Given the description of an element on the screen output the (x, y) to click on. 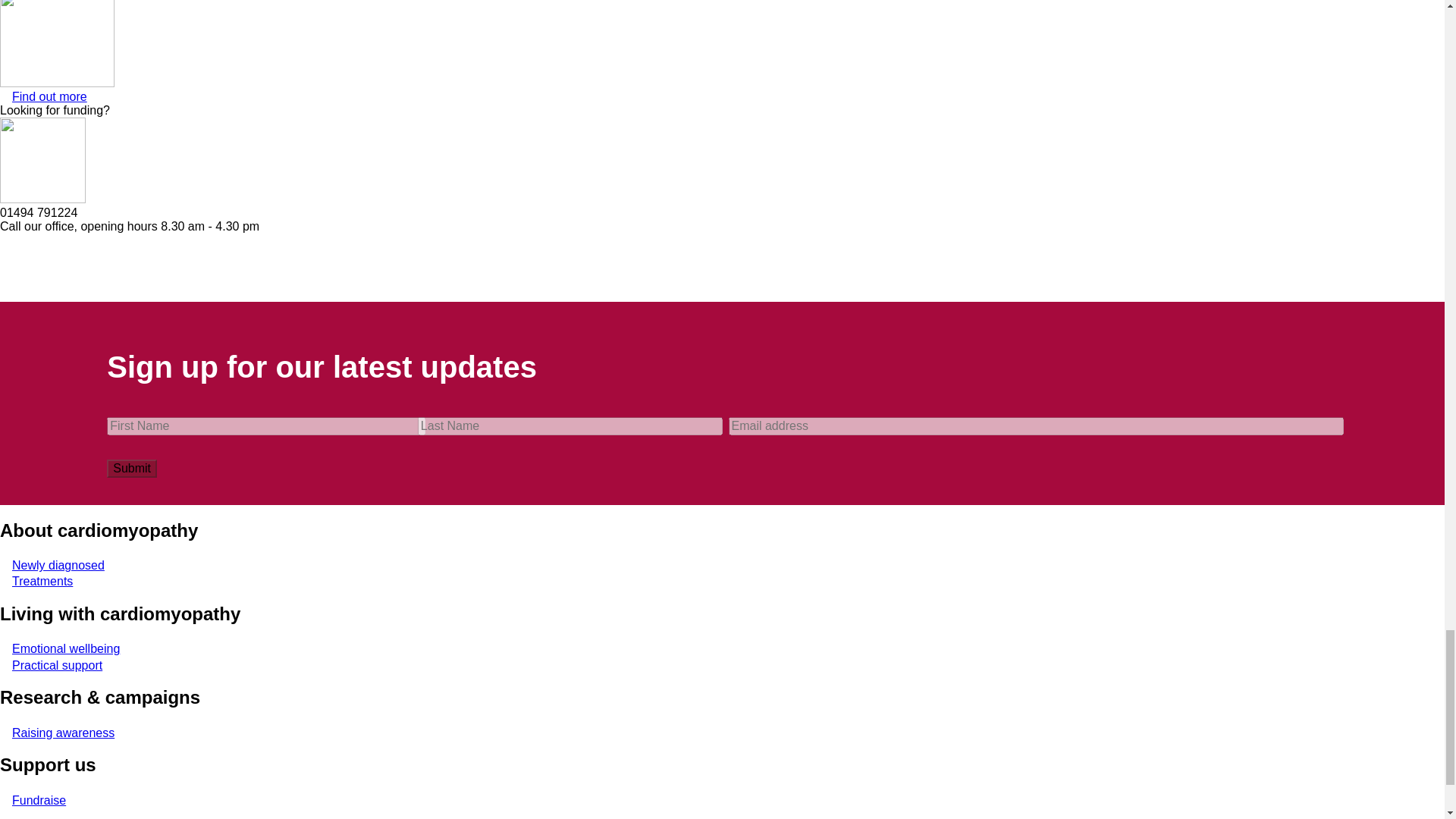
Submit (131, 468)
